Given the description of an element on the screen output the (x, y) to click on. 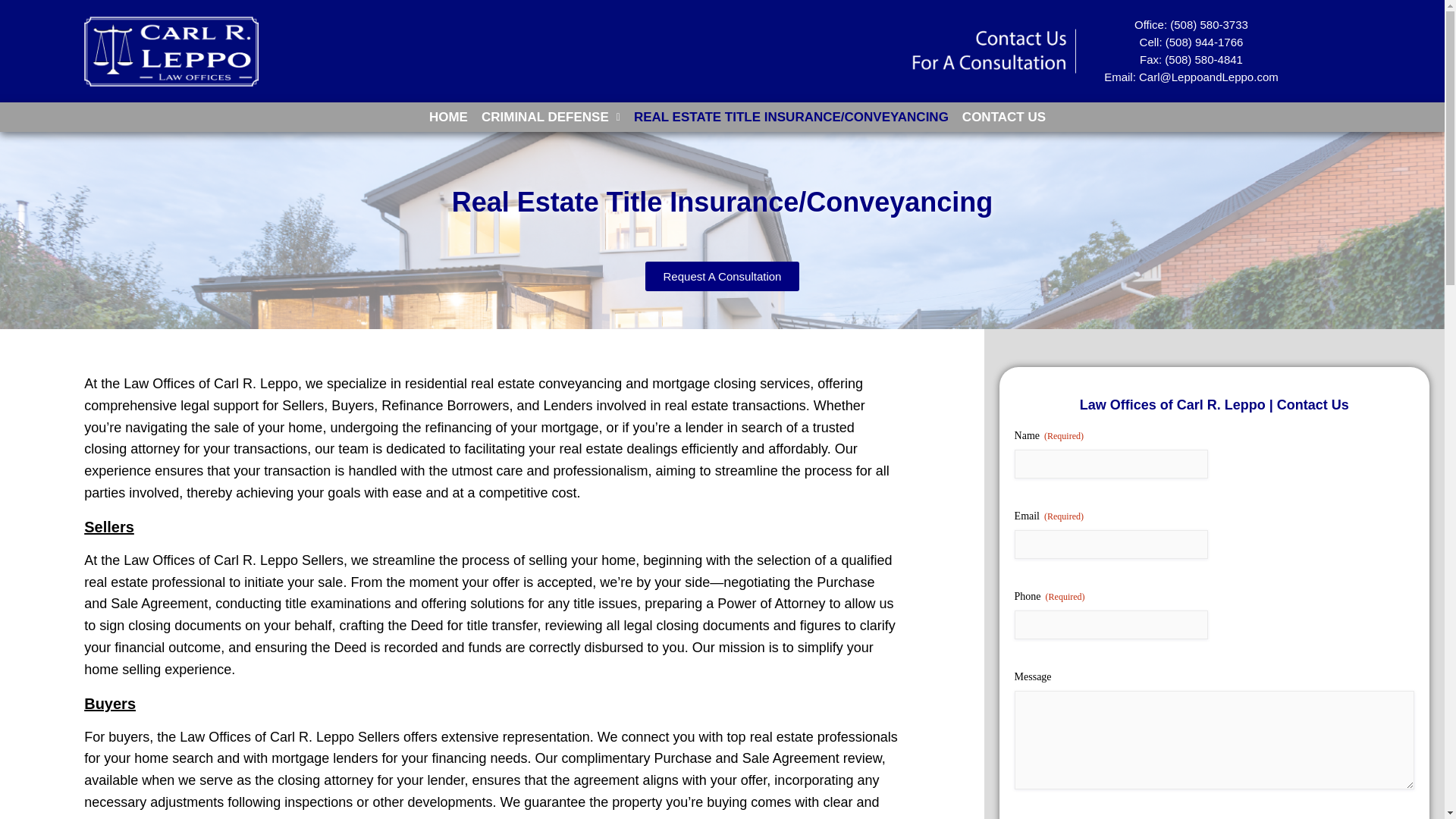
HOME (448, 116)
Request A Consultation (722, 276)
CRIMINAL DEFENSE (550, 116)
CONTACT US (1003, 116)
